Given the description of an element on the screen output the (x, y) to click on. 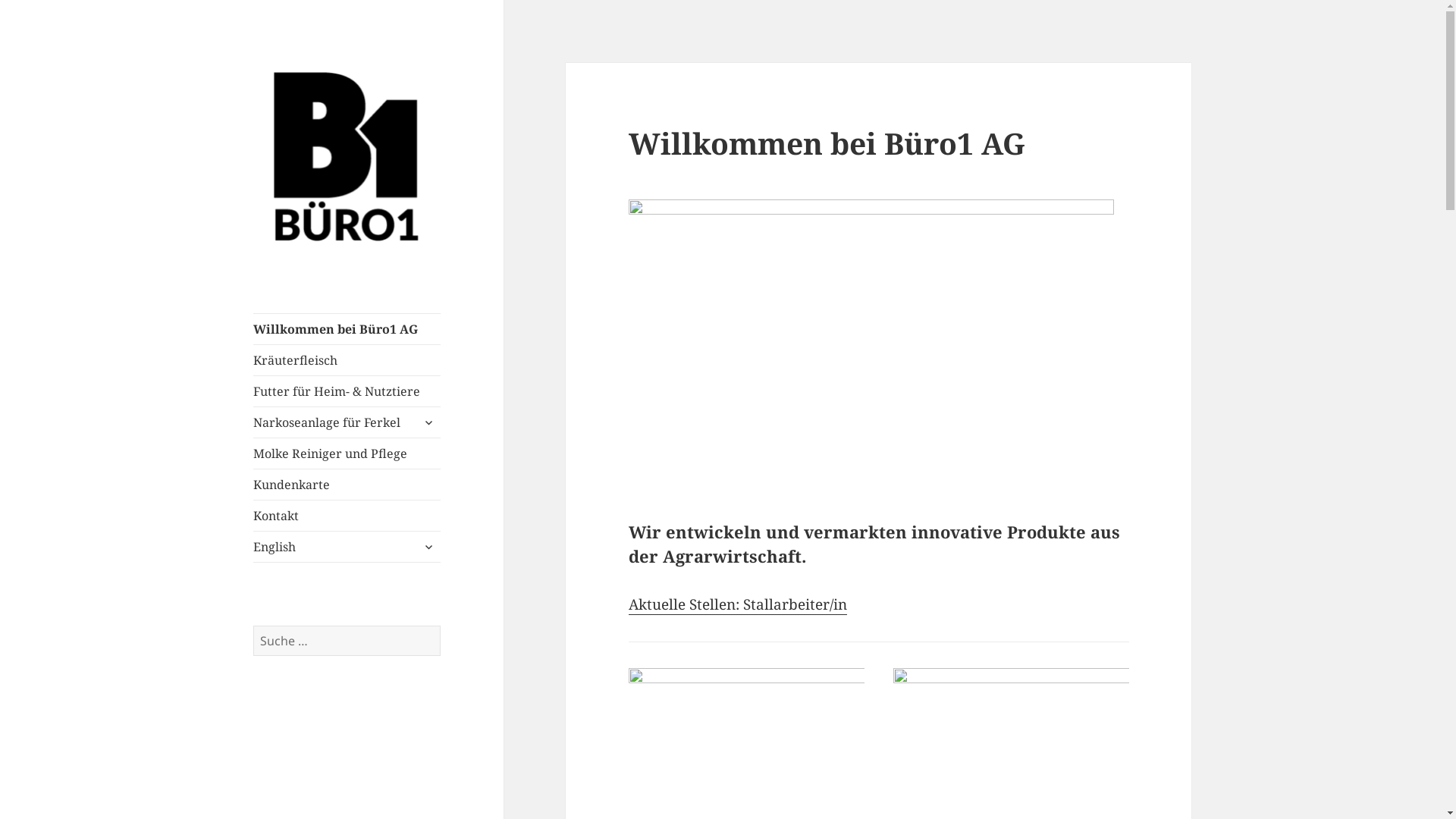
Suche Element type: text (440, 625)
Kundenkarte Element type: text (347, 484)
English Element type: text (347, 546)
Kontakt Element type: text (347, 515)
Aktuelle Stellen: Stallarbeiter/in Element type: text (737, 604)
Molke Reiniger und Pflege Element type: text (347, 453)
